Given the description of an element on the screen output the (x, y) to click on. 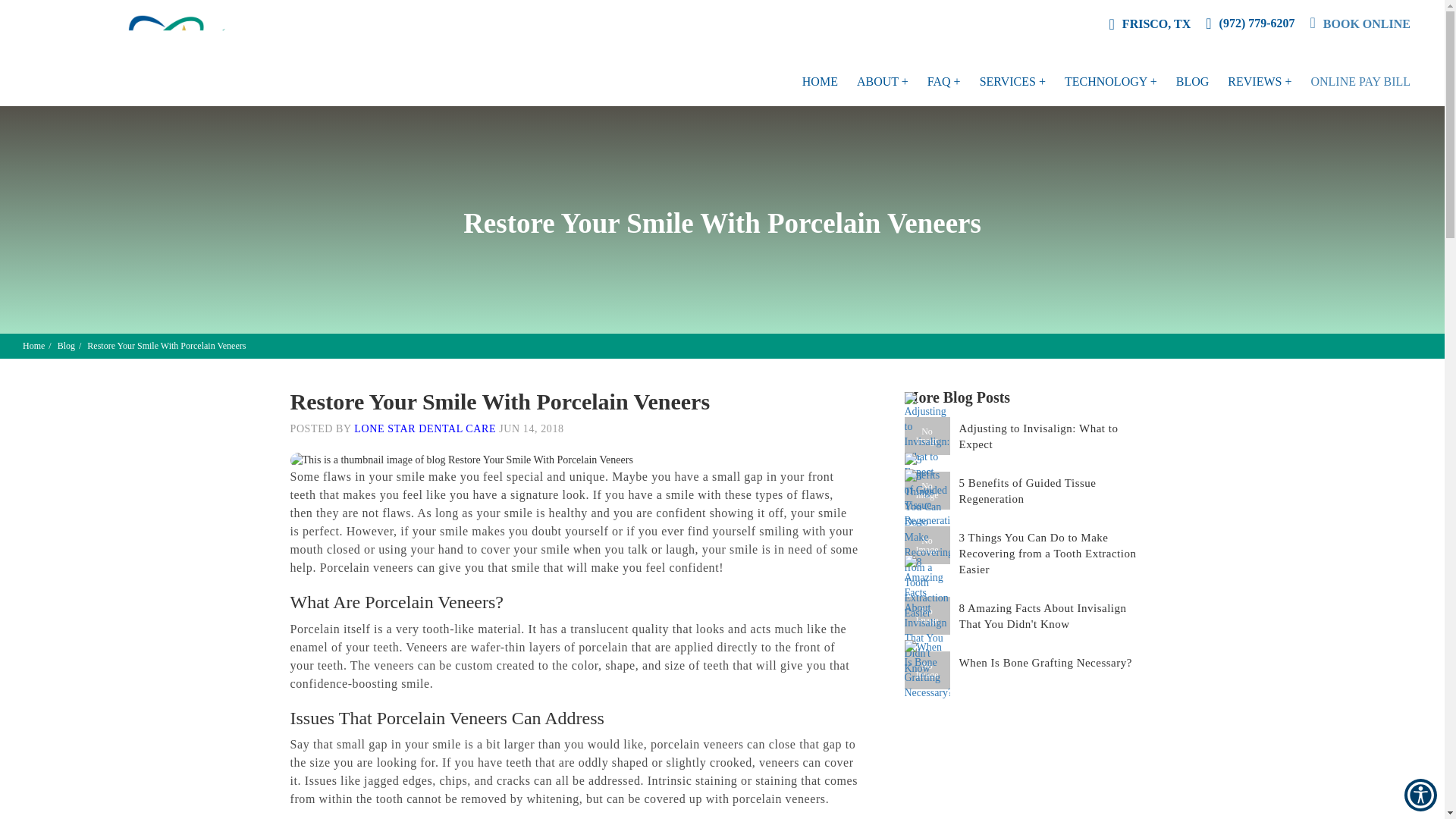
FRISCO, TX (1150, 24)
Brand Logo (151, 53)
User way accessibility widget icon (1420, 795)
HOME (820, 81)
BOOK ONLINE (1360, 24)
